Given the description of an element on the screen output the (x, y) to click on. 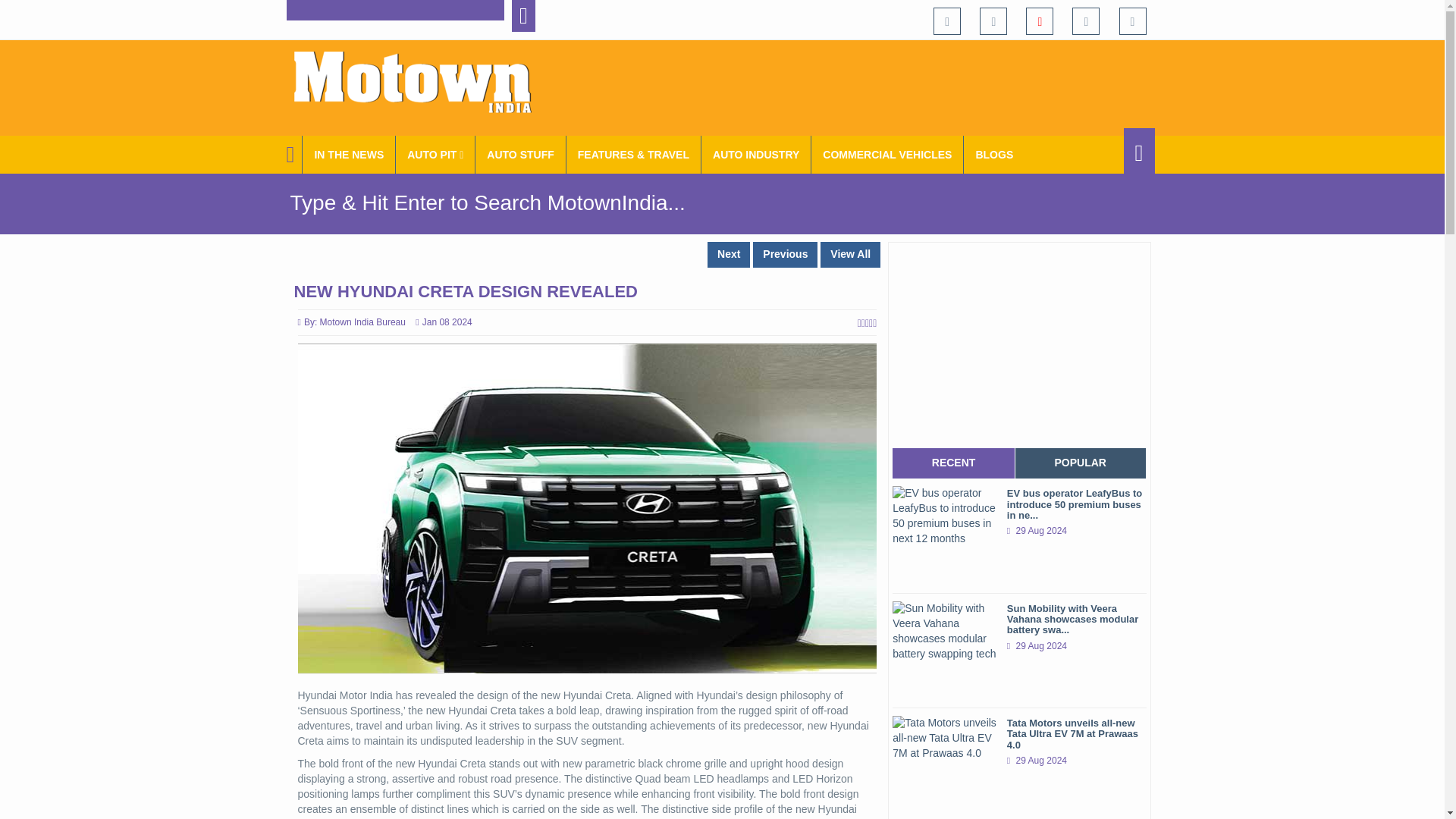
View All (850, 254)
Next (728, 254)
COMMERCIAL VEHICLES (886, 154)
AUTO STUFF (521, 154)
Motown India on YouTube (1039, 21)
BLOGS (994, 154)
AUTO INDUSTRY (755, 154)
View All In The News - Motown India (349, 154)
Previous (784, 254)
Motown India on Facebook (946, 21)
